Given the description of an element on the screen output the (x, y) to click on. 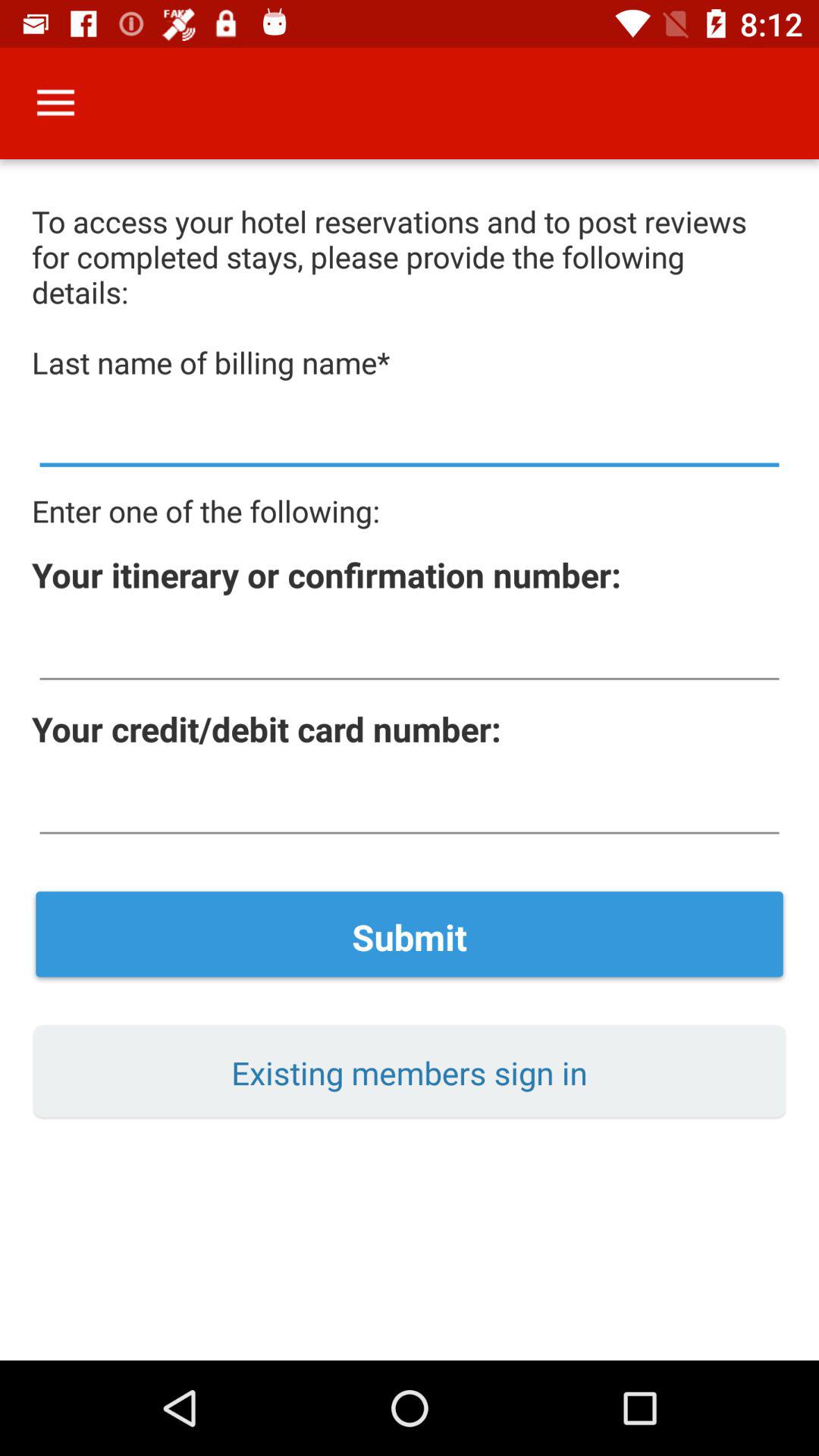
choose existing members sign item (409, 1072)
